Given the description of an element on the screen output the (x, y) to click on. 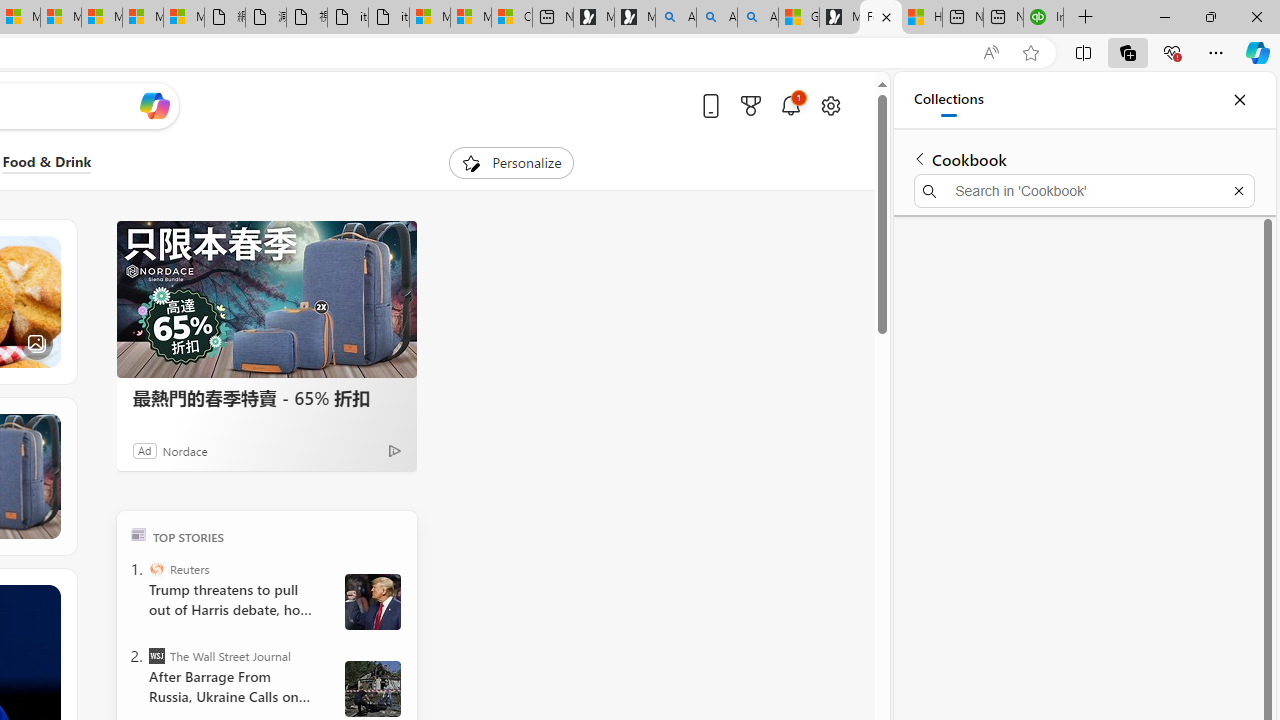
TOP (138, 534)
